Given the description of an element on the screen output the (x, y) to click on. 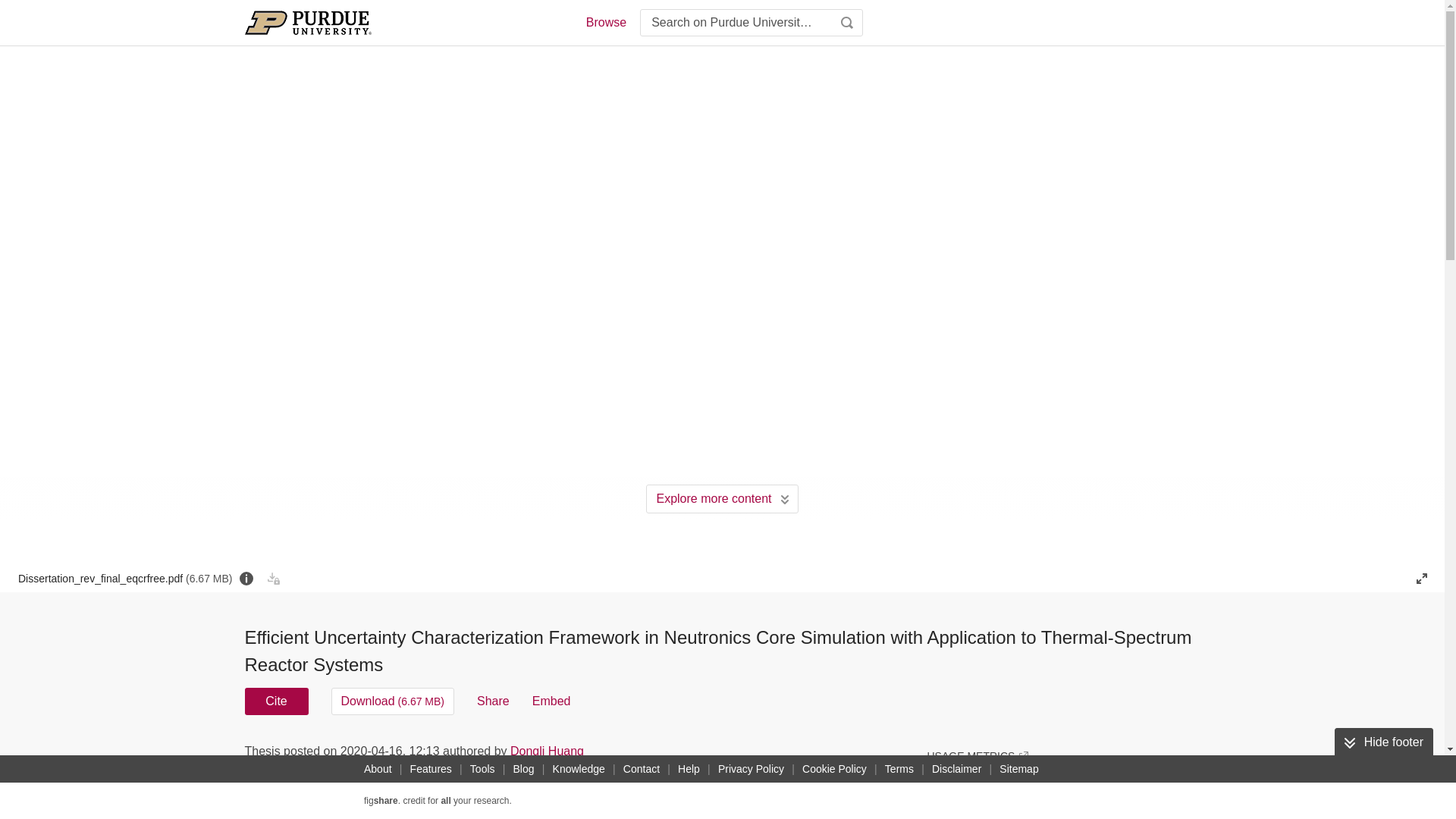
Contact (640, 769)
Embed (551, 700)
Explore more content (721, 498)
Blog (523, 769)
Share (493, 700)
Privacy Policy (751, 769)
About (377, 769)
Cite (275, 700)
Browse (605, 22)
Dongli Huang (547, 750)
Tools (482, 769)
Features (431, 769)
Help (688, 769)
Hide footer (1383, 742)
